Given the description of an element on the screen output the (x, y) to click on. 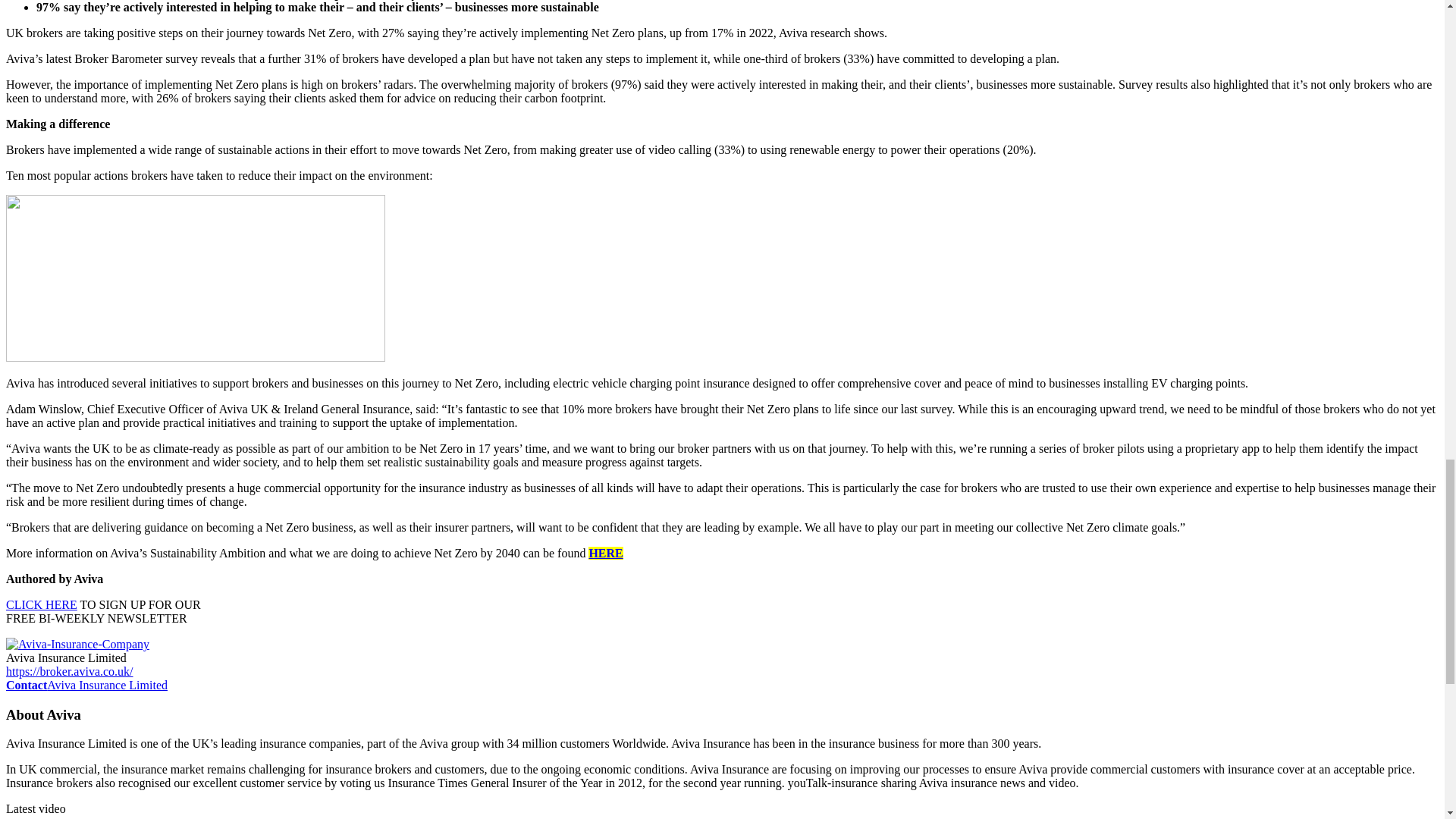
Aviva Insurance Company (77, 644)
